Given the description of an element on the screen output the (x, y) to click on. 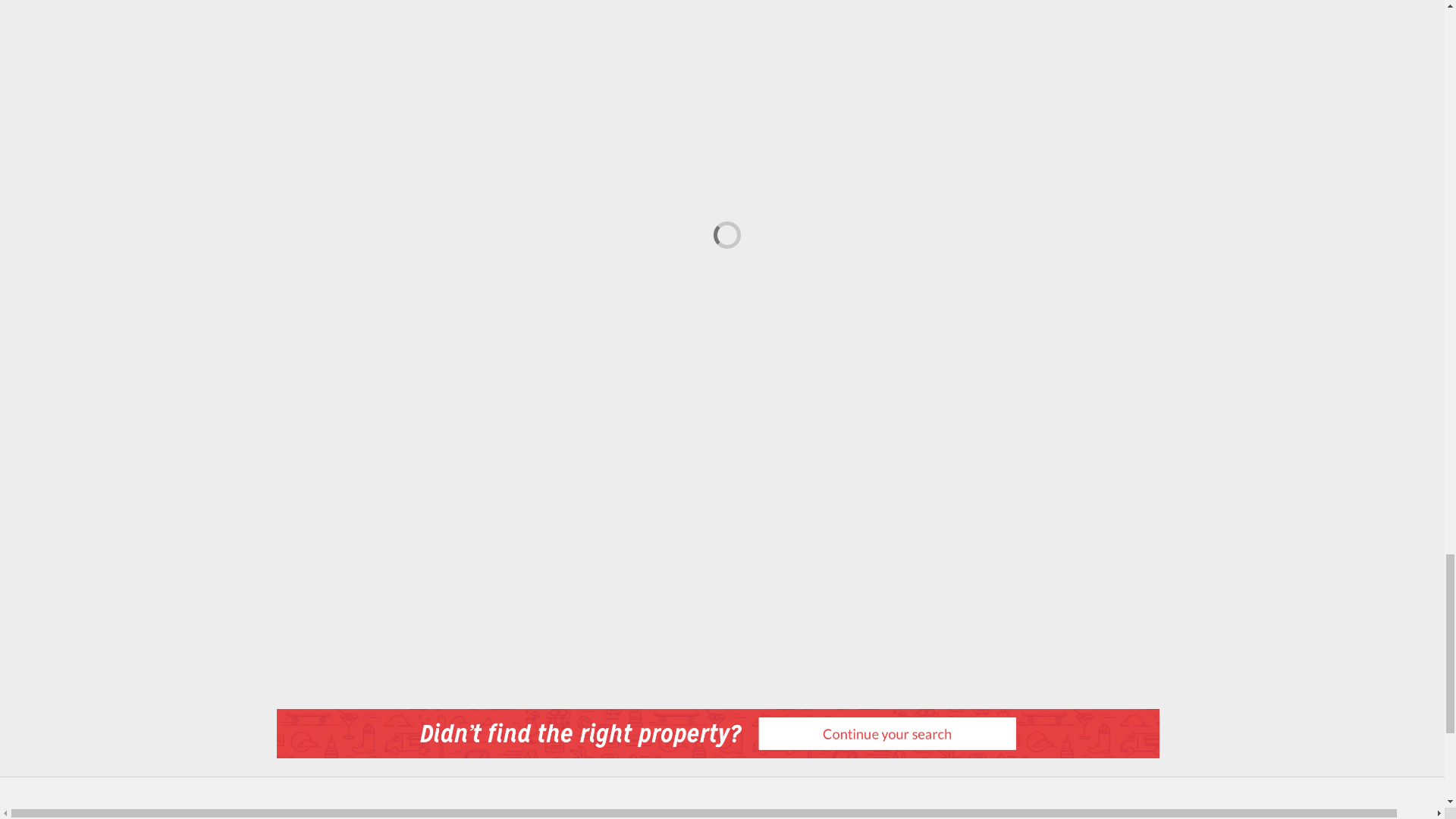
Loading... (721, 230)
